Given the description of an element on the screen output the (x, y) to click on. 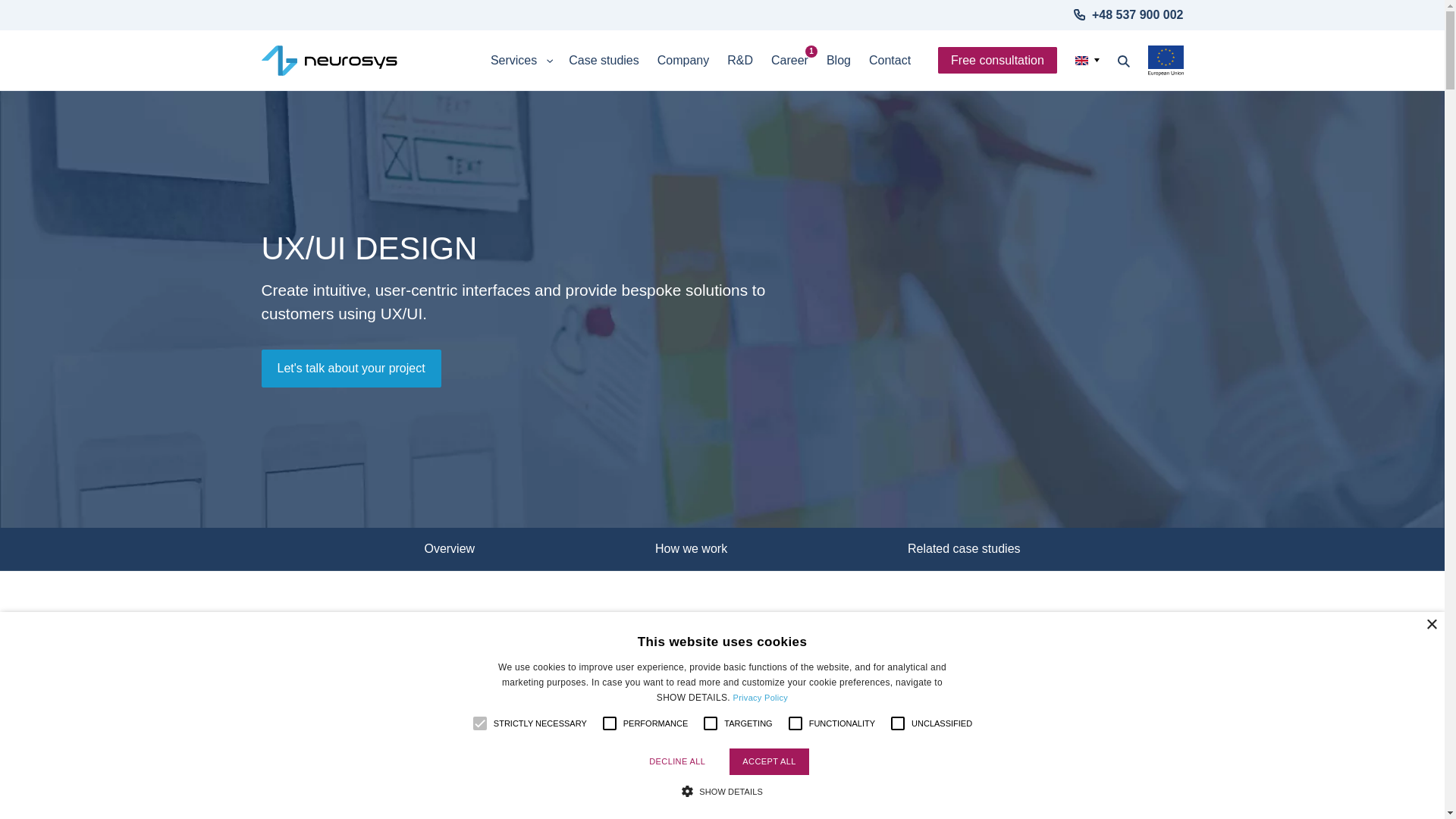
Services (520, 60)
